Given the description of an element on the screen output the (x, y) to click on. 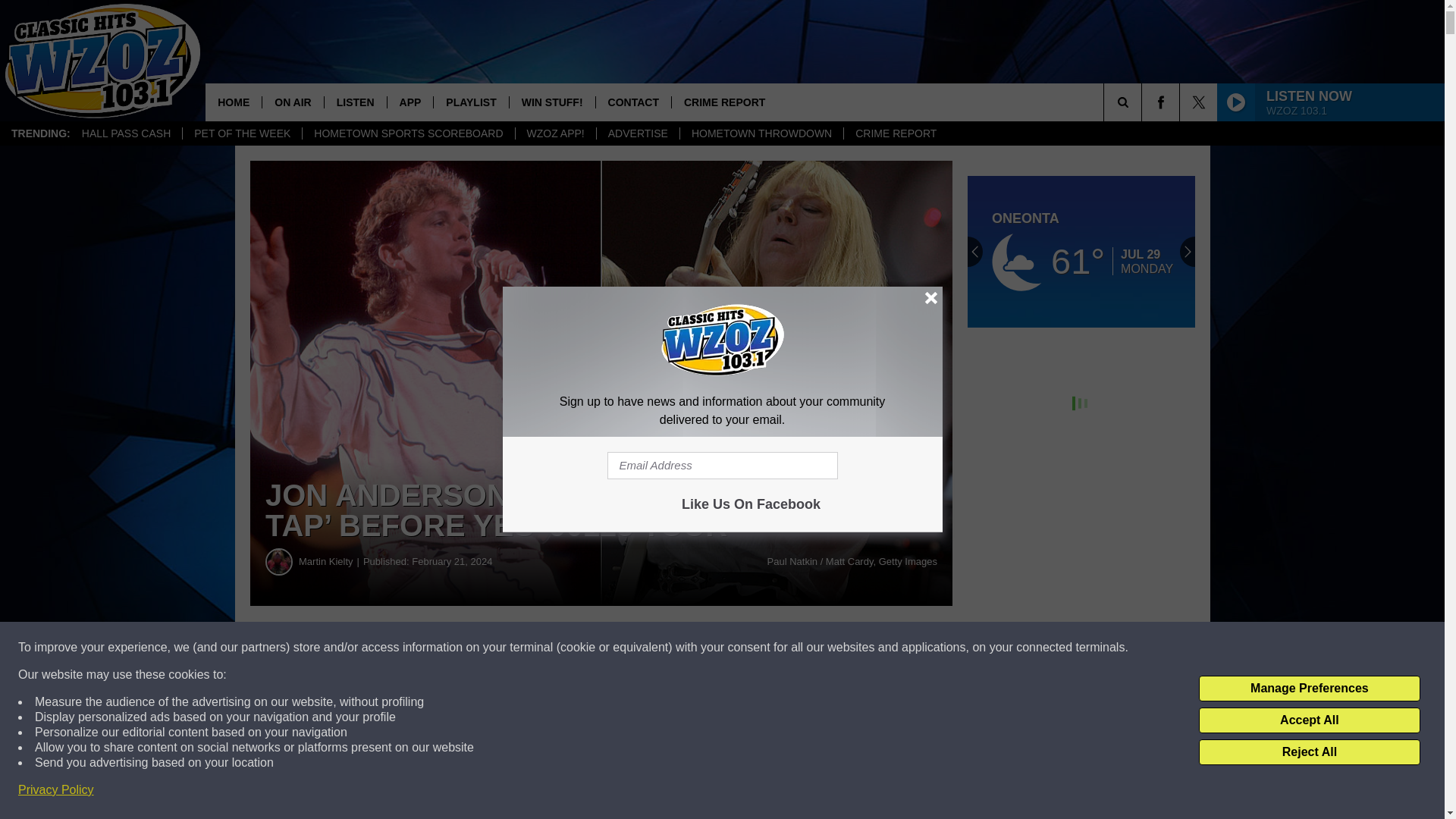
Manage Preferences (1309, 688)
SEARCH (1144, 102)
WZOZ APP! (555, 133)
HOMETOWN SPORTS SCOREBOARD (407, 133)
ADVERTISE (637, 133)
SHARE (460, 647)
SEARCH (1144, 102)
PET OF THE WEEK (241, 133)
CRIME REPORT (724, 102)
HOMETOWN THROWDOWN (761, 133)
Oneonta Weather (1081, 251)
Email Address (722, 465)
TWEET (741, 647)
PLAYLIST (470, 102)
Reject All (1309, 751)
